Given the description of an element on the screen output the (x, y) to click on. 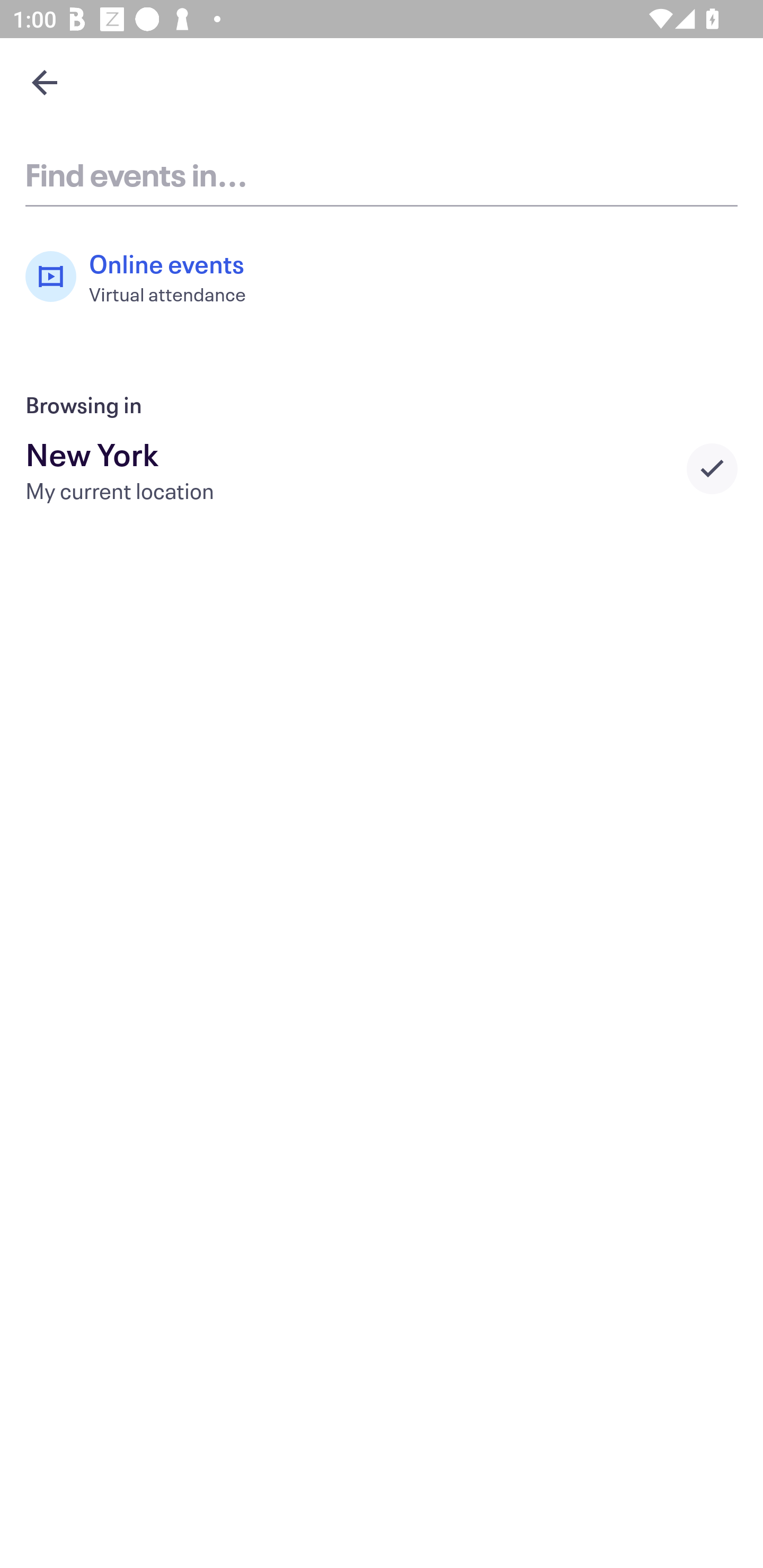
Navigate up (44, 82)
Find events in... (381, 173)
Online events Virtual attendance (144, 276)
New York My current location Selected city (381, 468)
